Given the description of an element on the screen output the (x, y) to click on. 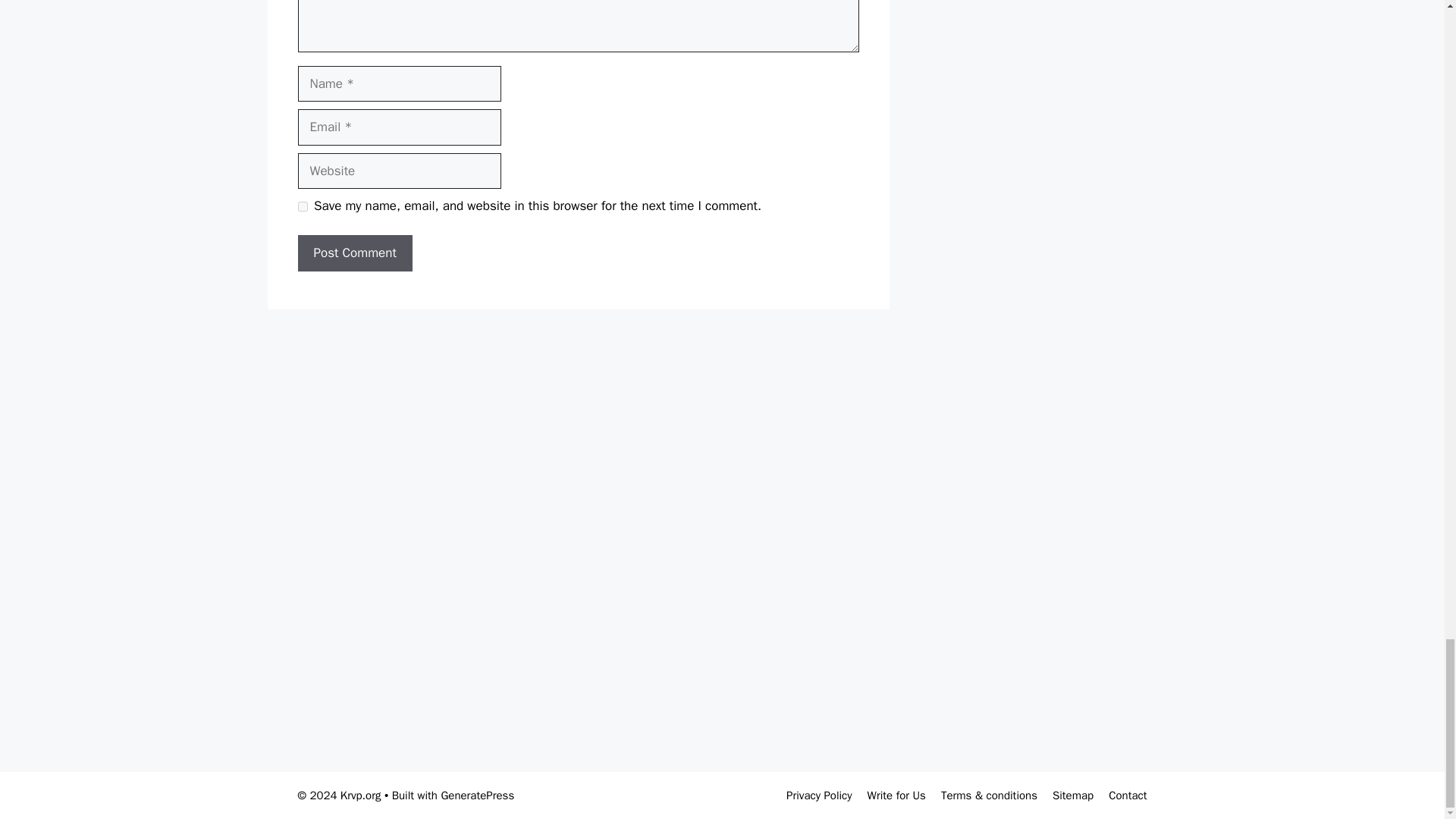
GeneratePress (477, 795)
Post Comment (354, 253)
Write for Us (896, 795)
yes (302, 206)
Post Comment (354, 253)
Sitemap (1072, 795)
Privacy Policy (818, 795)
Contact (1127, 795)
